Given the description of an element on the screen output the (x, y) to click on. 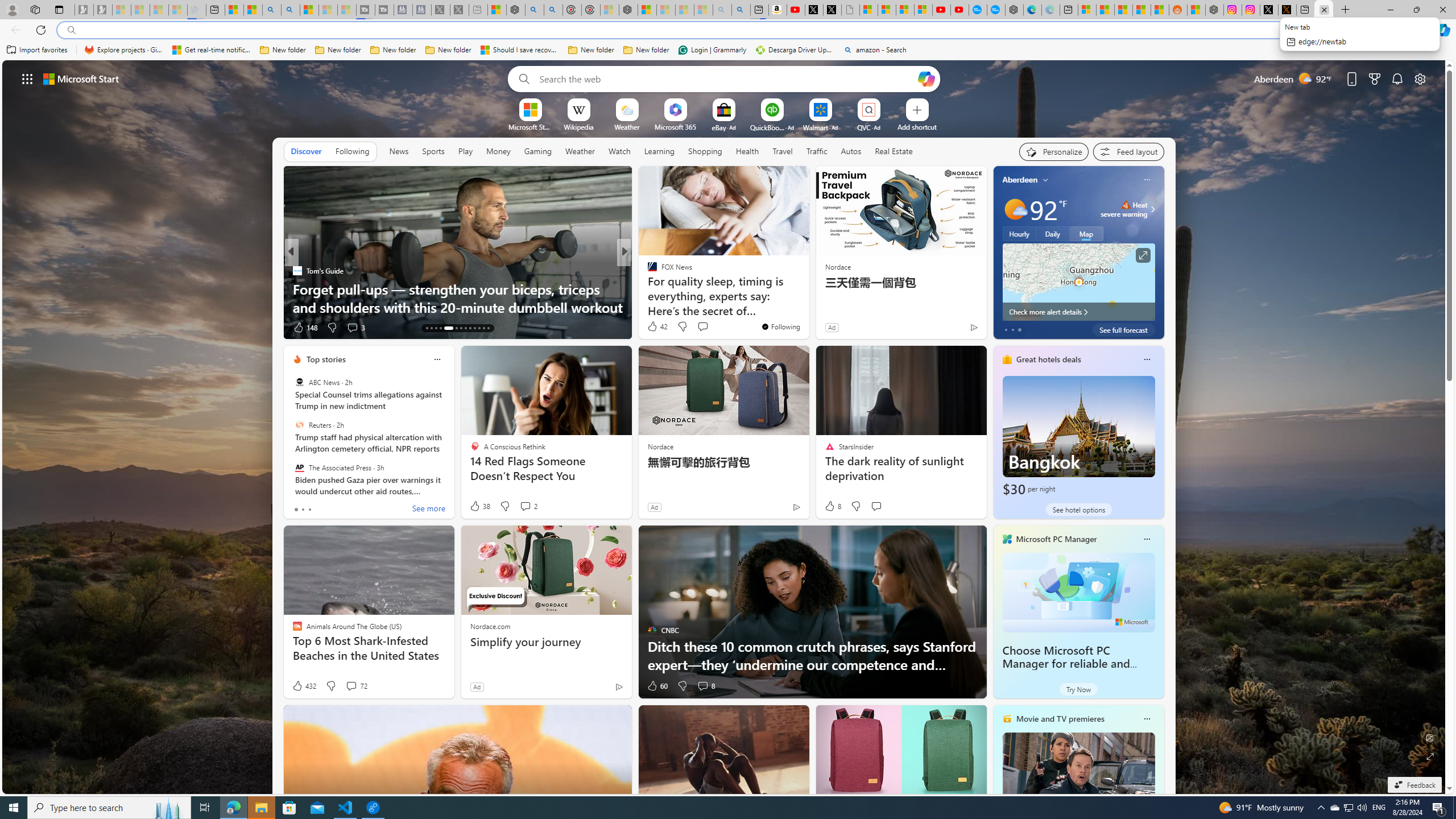
Great hotels deals (1048, 359)
My location (1045, 179)
Nordace - Nordace Siena Is Not An Ordinary Backpack (628, 9)
AutomationID: tab-16 (440, 328)
AutomationID: tab-20 (465, 328)
Microsoft Start - Sleeping (328, 9)
Top stories (325, 359)
